Given the description of an element on the screen output the (x, y) to click on. 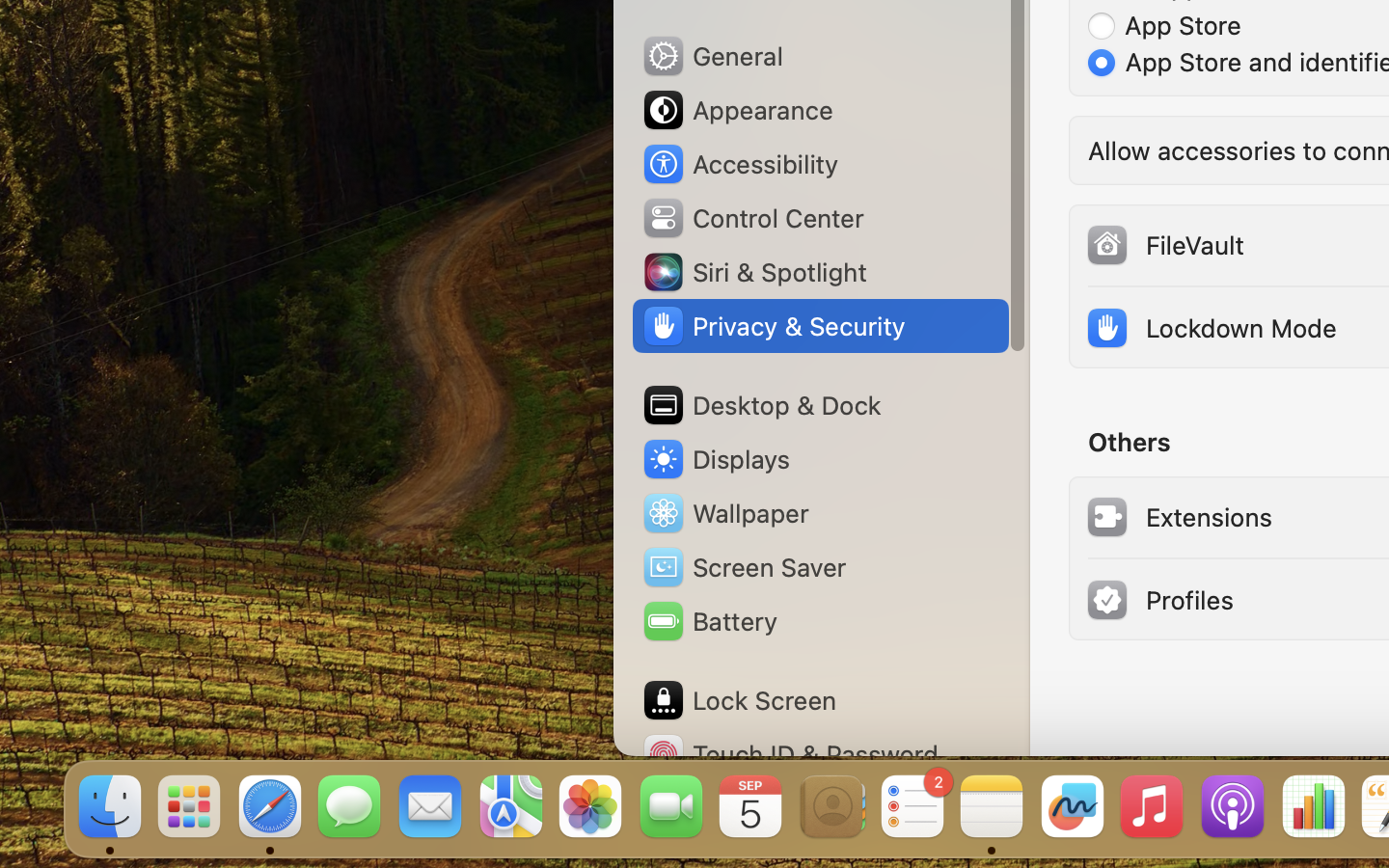
Siri & Spotlight Element type: AXStaticText (753, 271)
Lock Screen Element type: AXStaticText (738, 700)
General Element type: AXStaticText (711, 55)
Accessibility Element type: AXStaticText (739, 163)
Battery Element type: AXStaticText (708, 620)
